Given the description of an element on the screen output the (x, y) to click on. 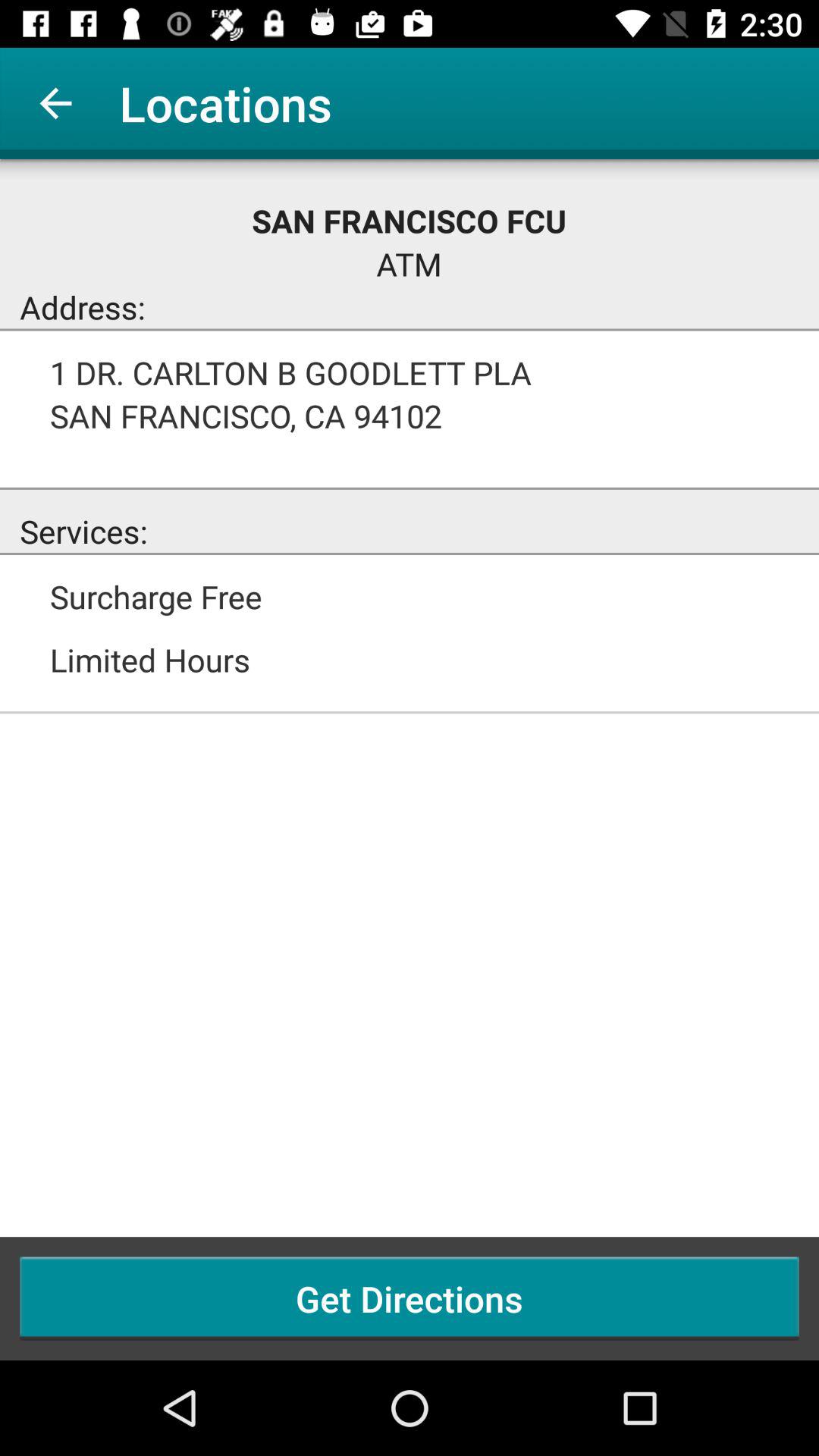
open get directions (409, 1298)
